Given the description of an element on the screen output the (x, y) to click on. 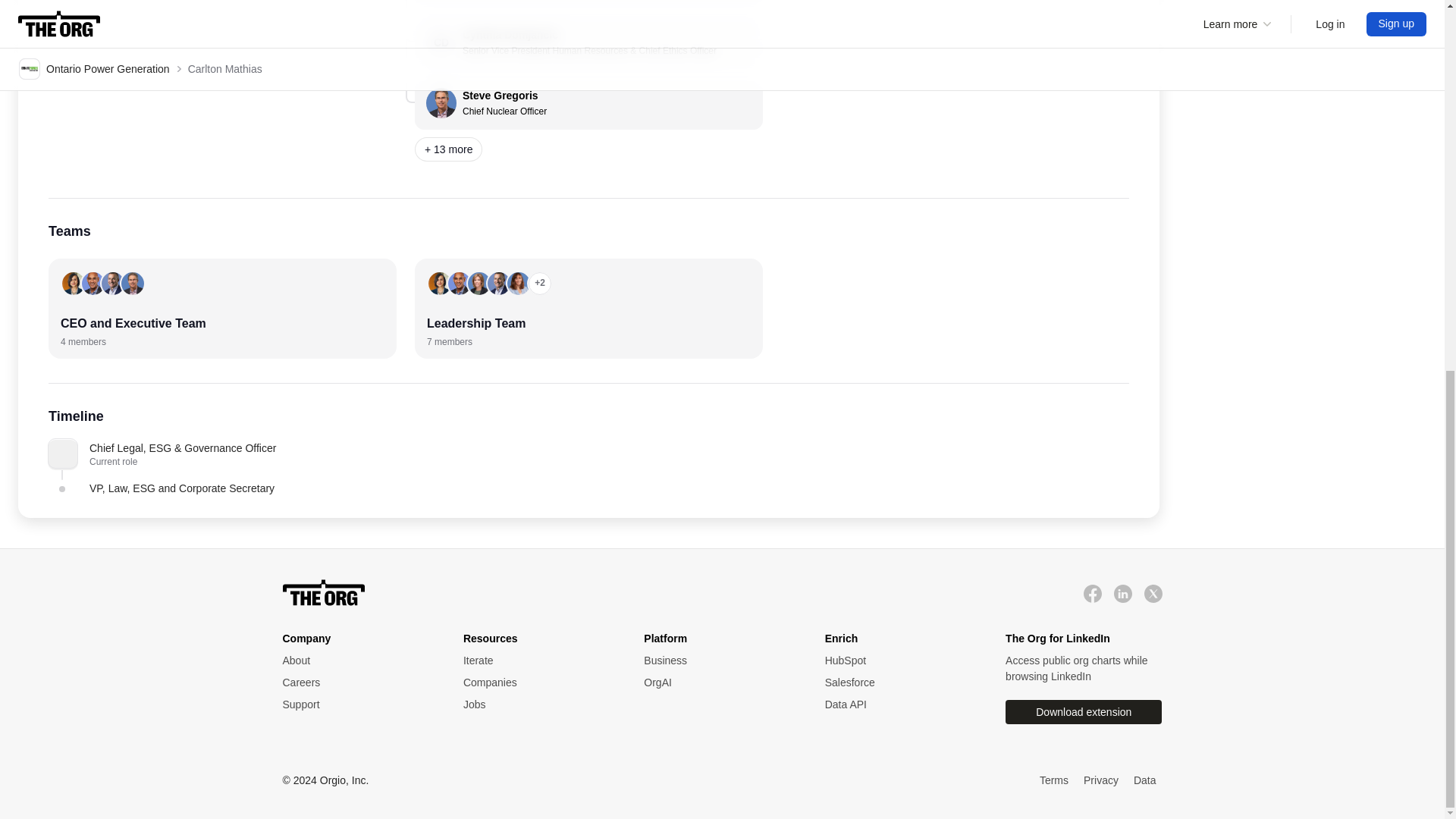
Terms (1053, 780)
The Org logo (323, 592)
Privacy (1100, 780)
Business (718, 660)
Companies (537, 682)
Careers (357, 682)
Business (718, 660)
OrgAI (222, 308)
Download extension (718, 682)
About (1083, 711)
Iterate (357, 660)
Iterate (537, 660)
Salesforce (537, 660)
Jobs (900, 682)
